Given the description of an element on the screen output the (x, y) to click on. 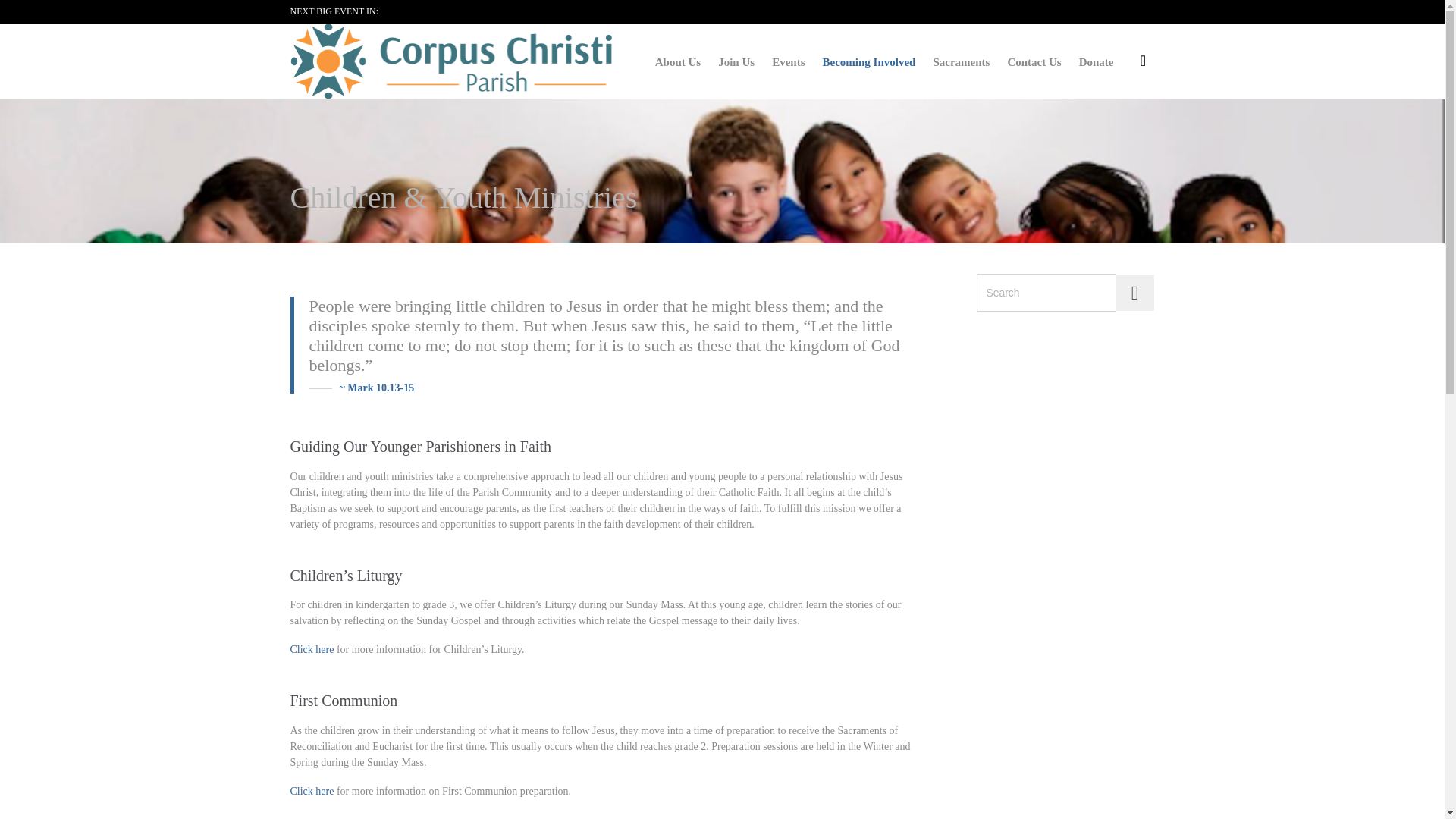
Corpus Christi Parish (450, 61)
Search (1134, 292)
Events (787, 63)
About Us (677, 63)
Join Us (736, 63)
Becoming Involved (868, 63)
Sacraments (960, 63)
